Given the description of an element on the screen output the (x, y) to click on. 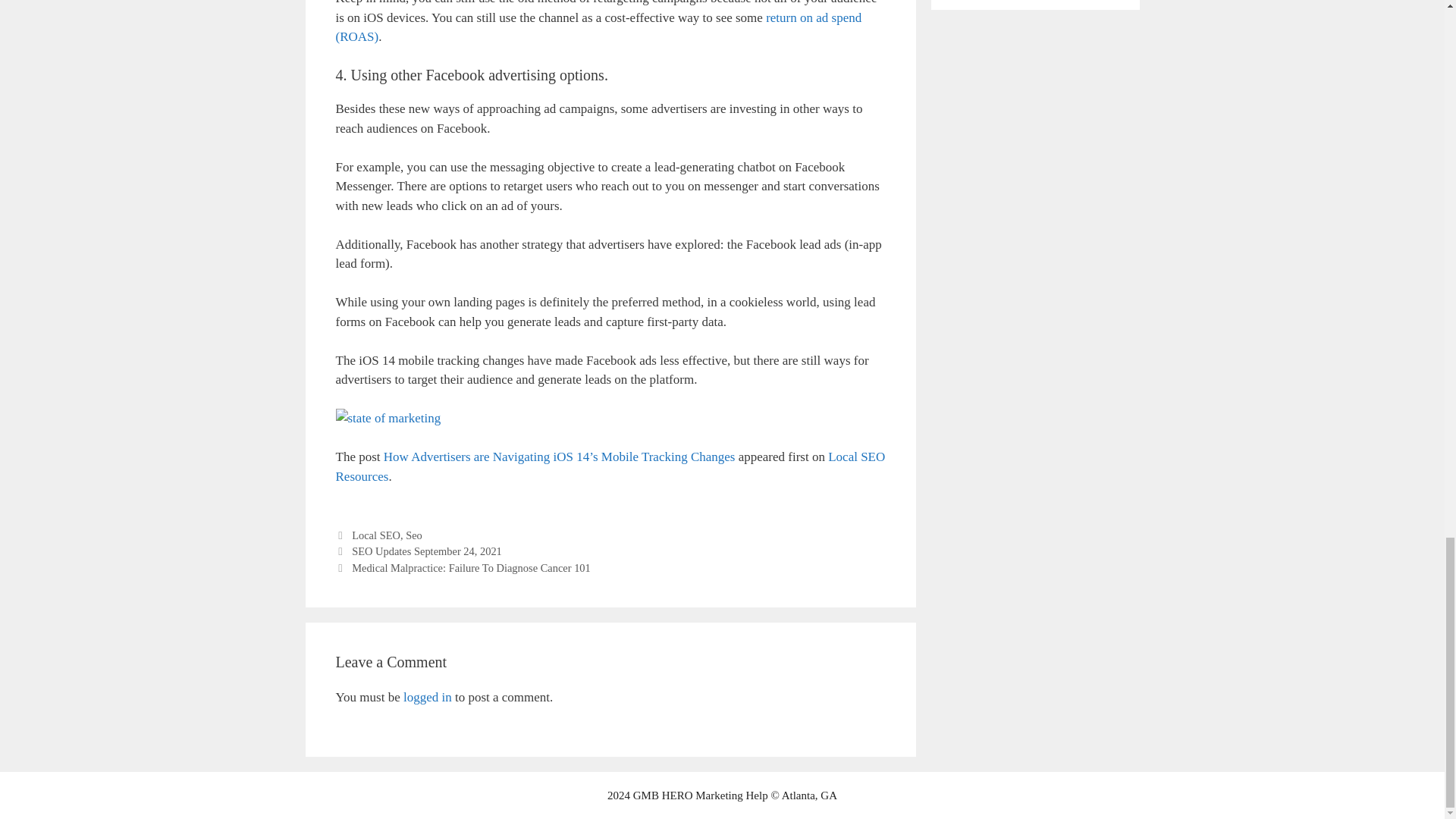
Seo (414, 535)
logged in (427, 697)
Local SEO (376, 535)
Local SEO Resources (609, 466)
Marketing (718, 795)
SEO Updates September 24, 2021 (427, 551)
Medical Malpractice: Failure To Diagnose Cancer 101 (471, 567)
